Given the description of an element on the screen output the (x, y) to click on. 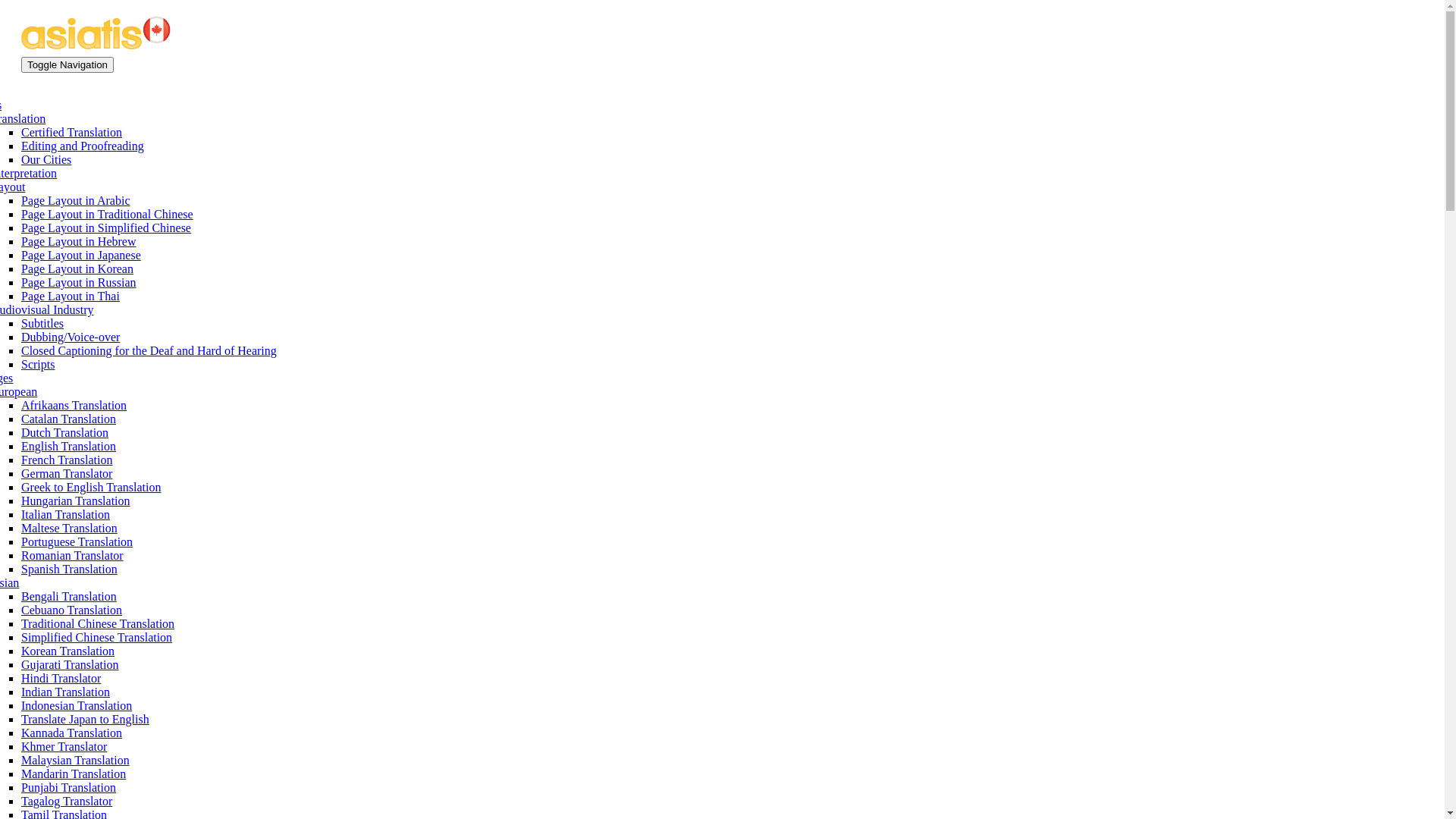
Tagalog Translator Element type: text (66, 800)
Toggle Navigation Element type: text (67, 64)
Page Layout in Japanese Element type: text (81, 254)
Dutch Translation Element type: text (64, 432)
Afrikaans Translation Element type: text (73, 404)
Cebuano Translation Element type: text (71, 609)
Indian Translation Element type: text (65, 691)
Indonesian Translation Element type: text (76, 705)
Romanian Translator Element type: text (72, 555)
Greek to English Translation Element type: text (90, 486)
German Translator Element type: text (66, 473)
Page Layout in Arabic Element type: text (75, 200)
Mandarin Translation Element type: text (73, 773)
Scripts Element type: text (37, 363)
Dubbing/Voice-over Element type: text (70, 336)
Traditional Chinese Translation Element type: text (97, 623)
Certified Translation Element type: text (71, 131)
Portuguese Translation Element type: text (76, 541)
Khmer Translator Element type: text (63, 746)
Bengali Translation Element type: text (68, 595)
English Translation Element type: text (68, 445)
Maltese Translation Element type: text (69, 527)
Subtitles Element type: text (42, 322)
Catalan Translation Element type: text (68, 418)
Korean Translation Element type: text (67, 650)
Page Layout in Russian Element type: text (78, 282)
Punjabi Translation Element type: text (68, 787)
Gujarati Translation Element type: text (69, 664)
Page Layout in Hebrew Element type: text (78, 241)
Italian Translation Element type: text (65, 514)
Simplified Chinese Translation Element type: text (96, 636)
Malaysian Translation Element type: text (75, 759)
Kannada Translation Element type: text (71, 732)
Closed Captioning for the Deaf and Hard of Hearing Element type: text (148, 350)
Page Layout in Traditional Chinese Element type: text (107, 213)
Spanish Translation Element type: text (69, 568)
Hindi Translator Element type: text (60, 677)
Page Layout in Thai Element type: text (70, 295)
French Translation Element type: text (66, 459)
Page Layout in Simplified Chinese Element type: text (106, 227)
Hungarian Translation Element type: text (75, 500)
Translate Japan to English Element type: text (85, 718)
Editing and Proofreading Element type: text (82, 145)
Page Layout in Korean Element type: text (77, 268)
Our Cities Element type: text (46, 159)
